Given the description of an element on the screen output the (x, y) to click on. 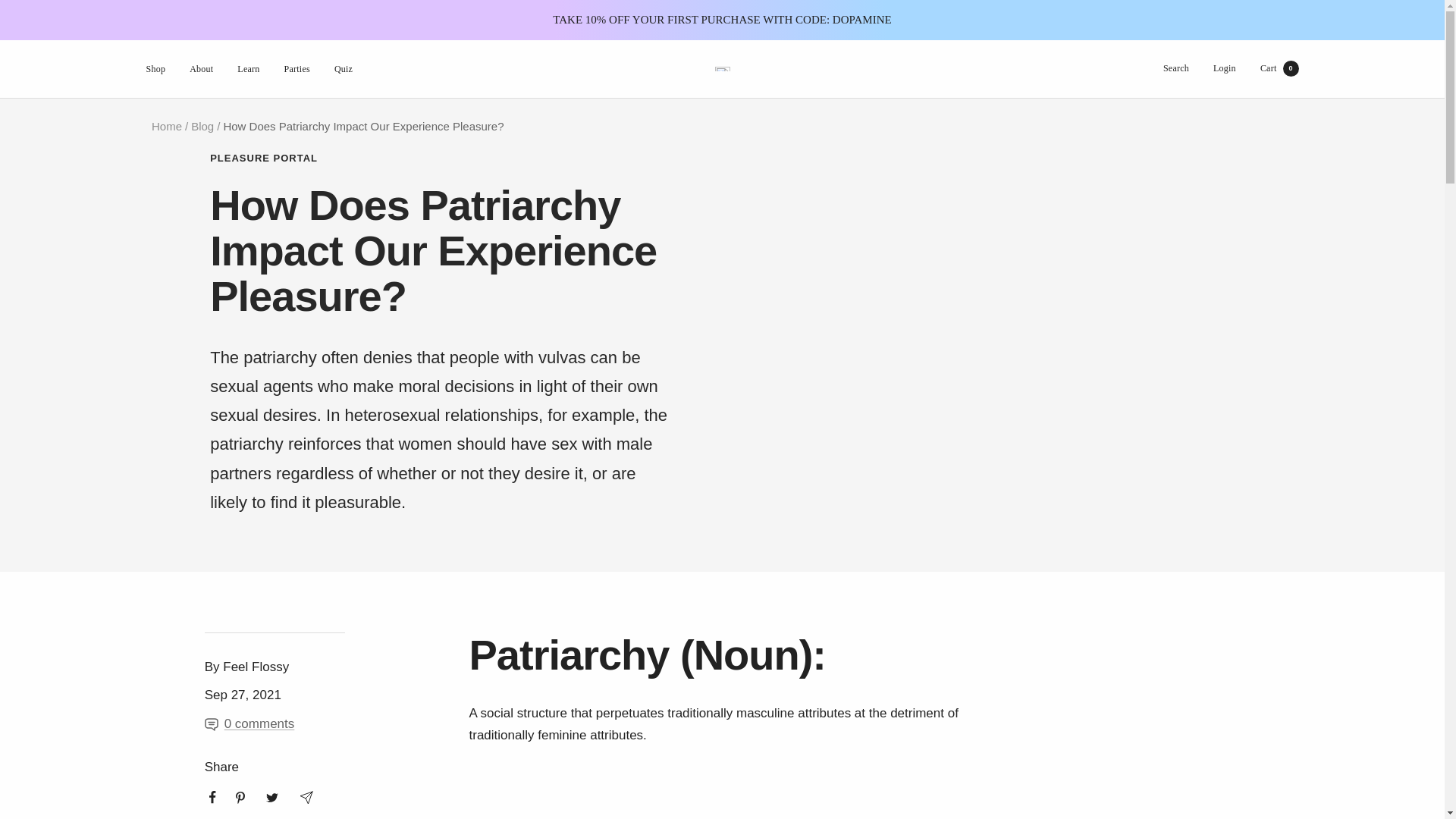
Learn (248, 68)
Parties (296, 68)
About (200, 68)
Search (1176, 68)
Quiz (343, 68)
flossy (721, 68)
Login (1224, 68)
Shop (1279, 68)
